Given the description of an element on the screen output the (x, y) to click on. 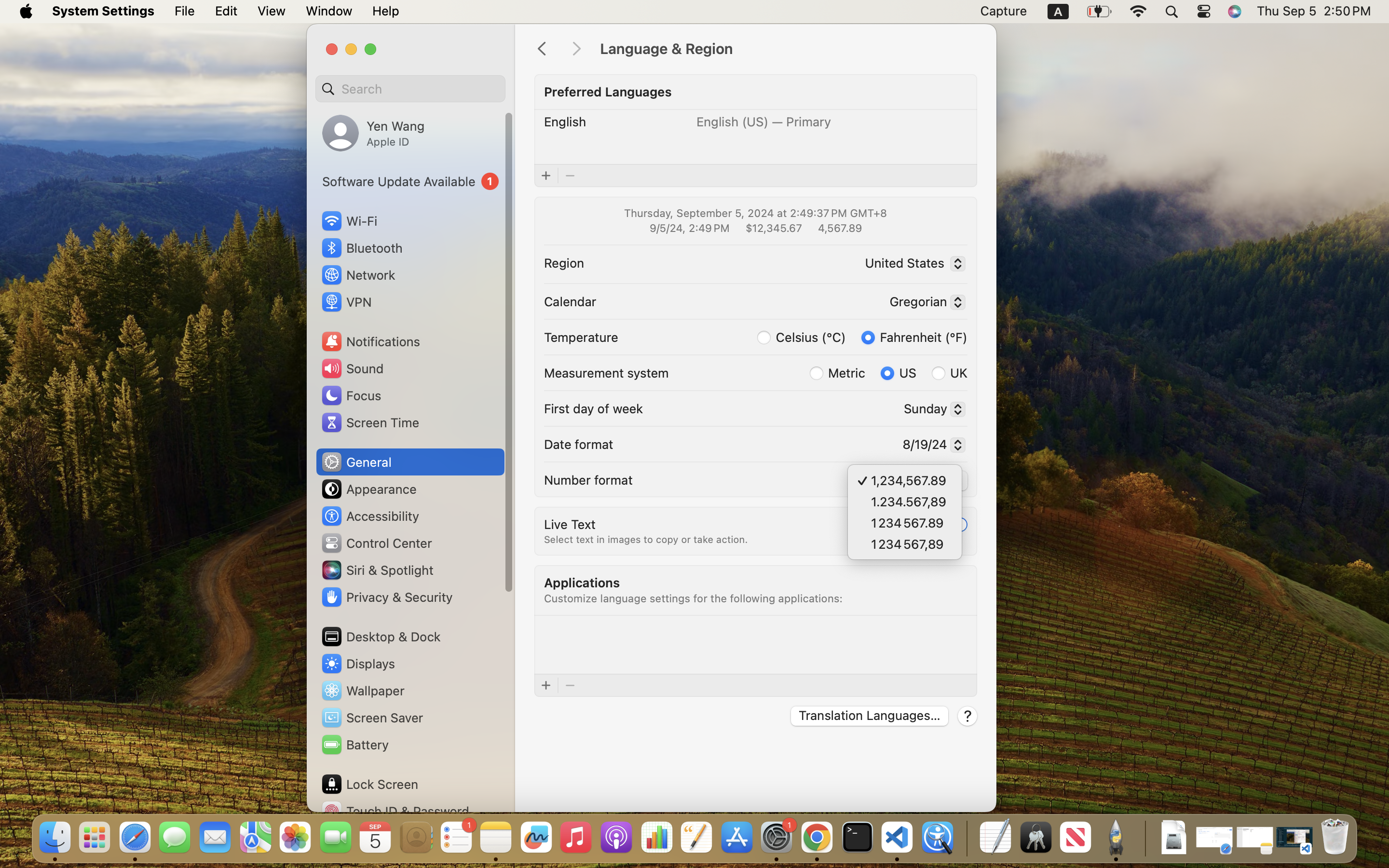
Displays Element type: AXStaticText (357, 663)
Sunday Element type: AXPopUpButton (930, 410)
Screen Saver Element type: AXStaticText (371, 717)
First day of week Element type: AXStaticText (593, 407)
8/19/24 Element type: AXPopUpButton (929, 446)
